Given the description of an element on the screen output the (x, y) to click on. 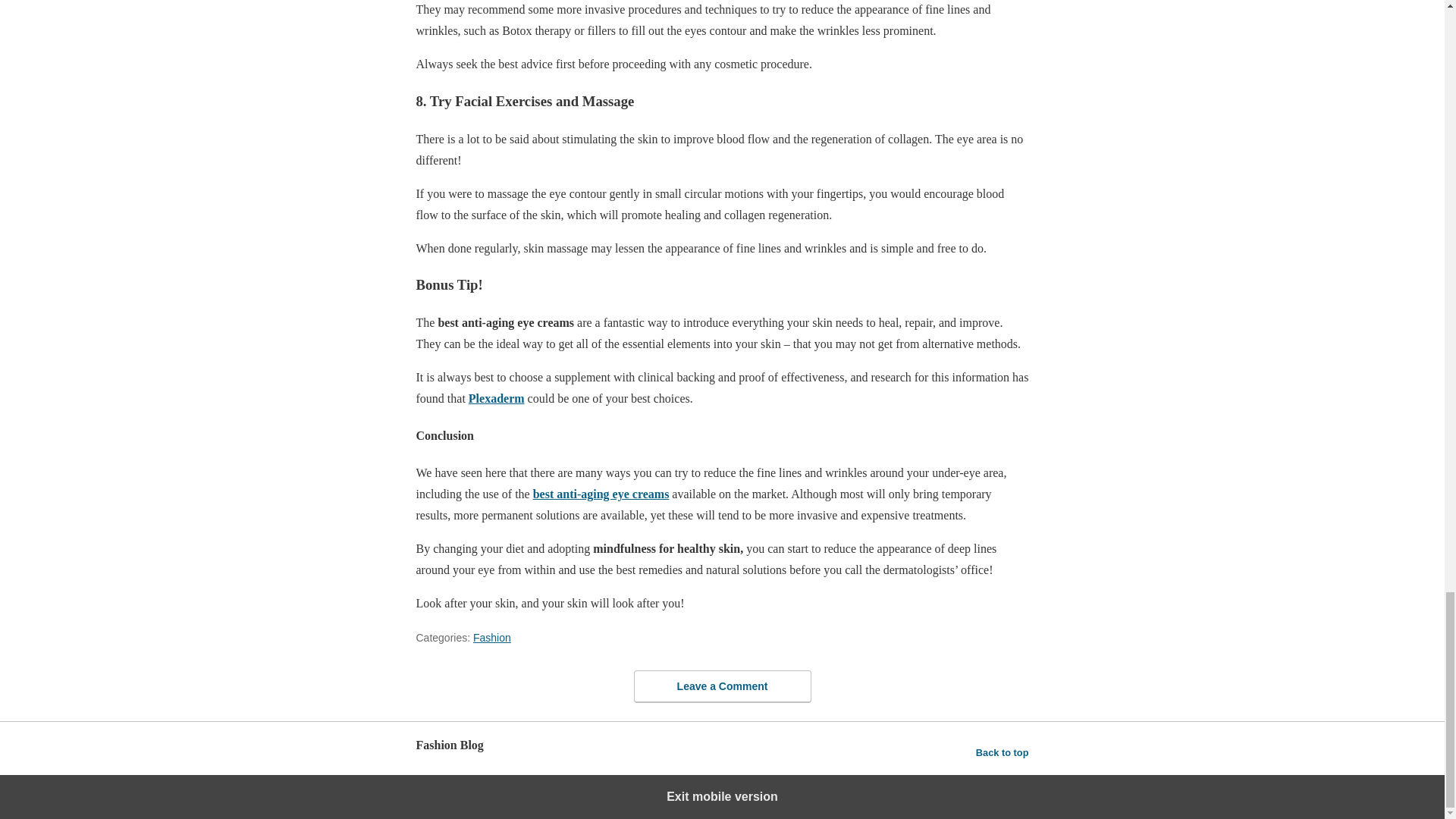
Back to top (1002, 752)
Plexaderm (496, 398)
best anti-aging eye creams (600, 493)
Fashion (492, 637)
Leave a Comment (721, 686)
